Given the description of an element on the screen output the (x, y) to click on. 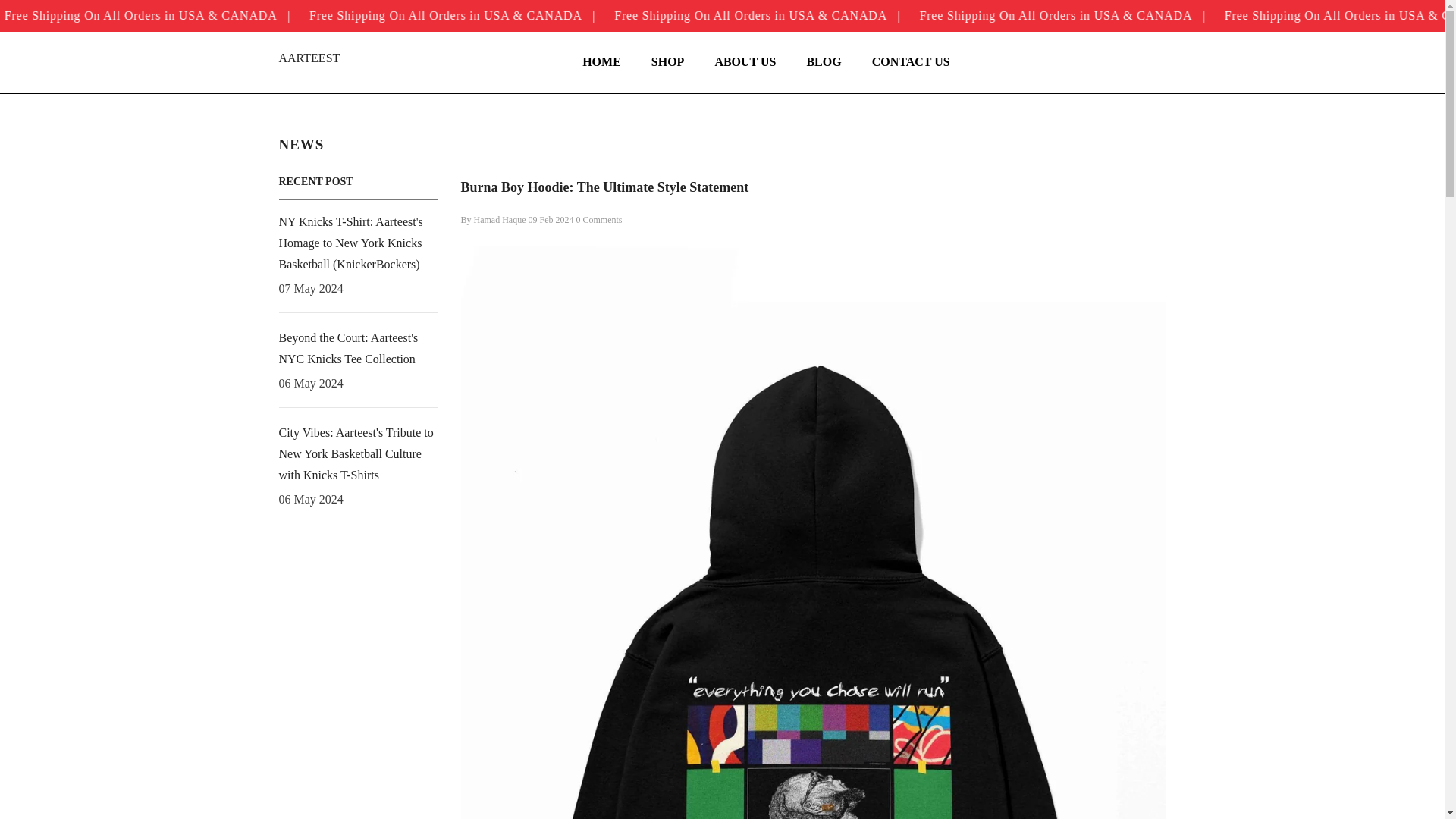
Beyond the Court: Aarteest's NYC Knicks Tee Collection (358, 348)
ABOUT US (744, 73)
SHOP (668, 73)
BLOG (823, 73)
HOME (601, 73)
CONTACT US (911, 73)
0 Comments (599, 219)
